Given the description of an element on the screen output the (x, y) to click on. 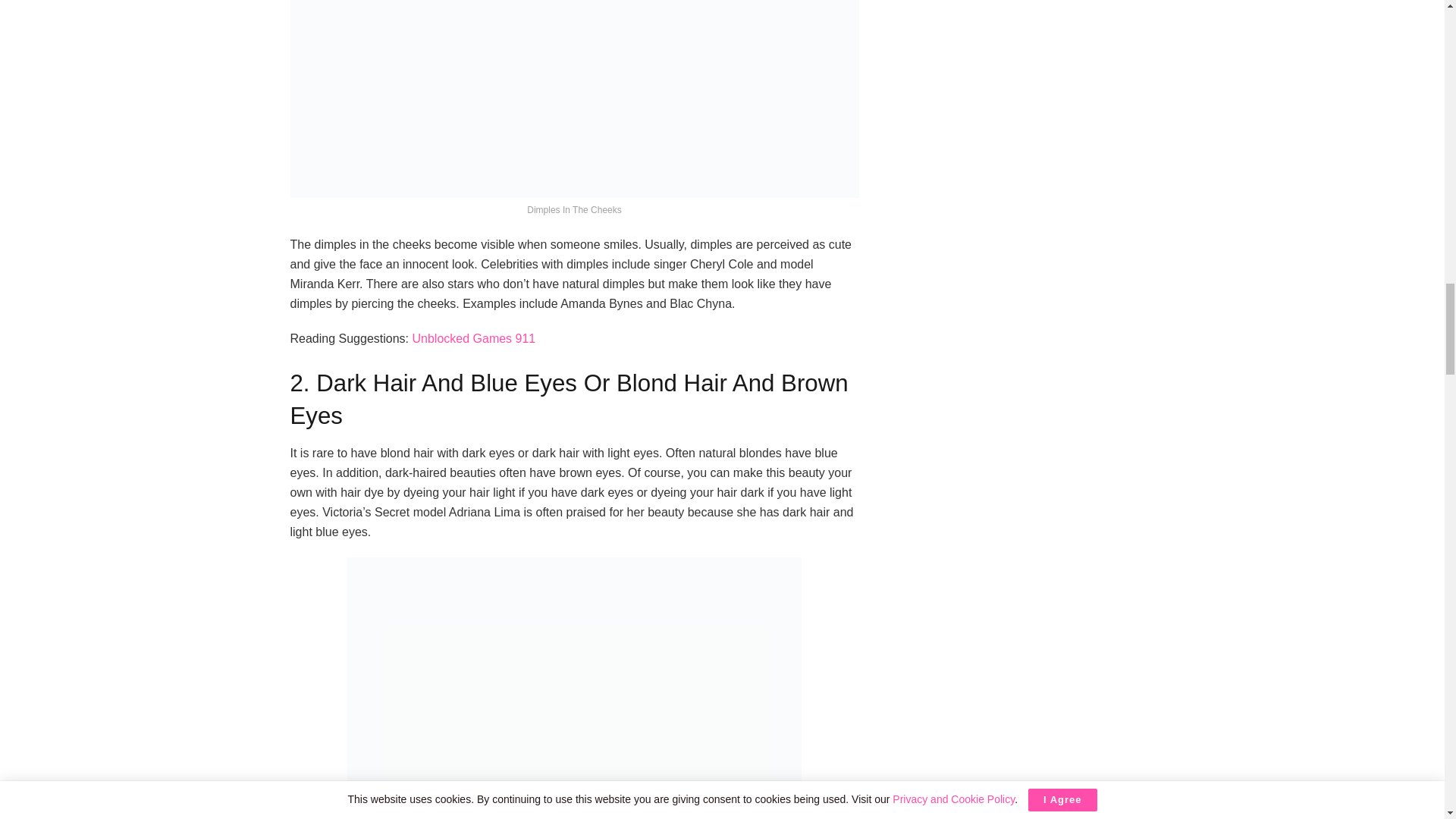
7 Beauty Marks: Embracing Freckles, Moles, And Birthmarks 3 (574, 688)
7 Beauty Marks: Embracing Freckles, Moles, And Birthmarks 2 (574, 99)
